Given the description of an element on the screen output the (x, y) to click on. 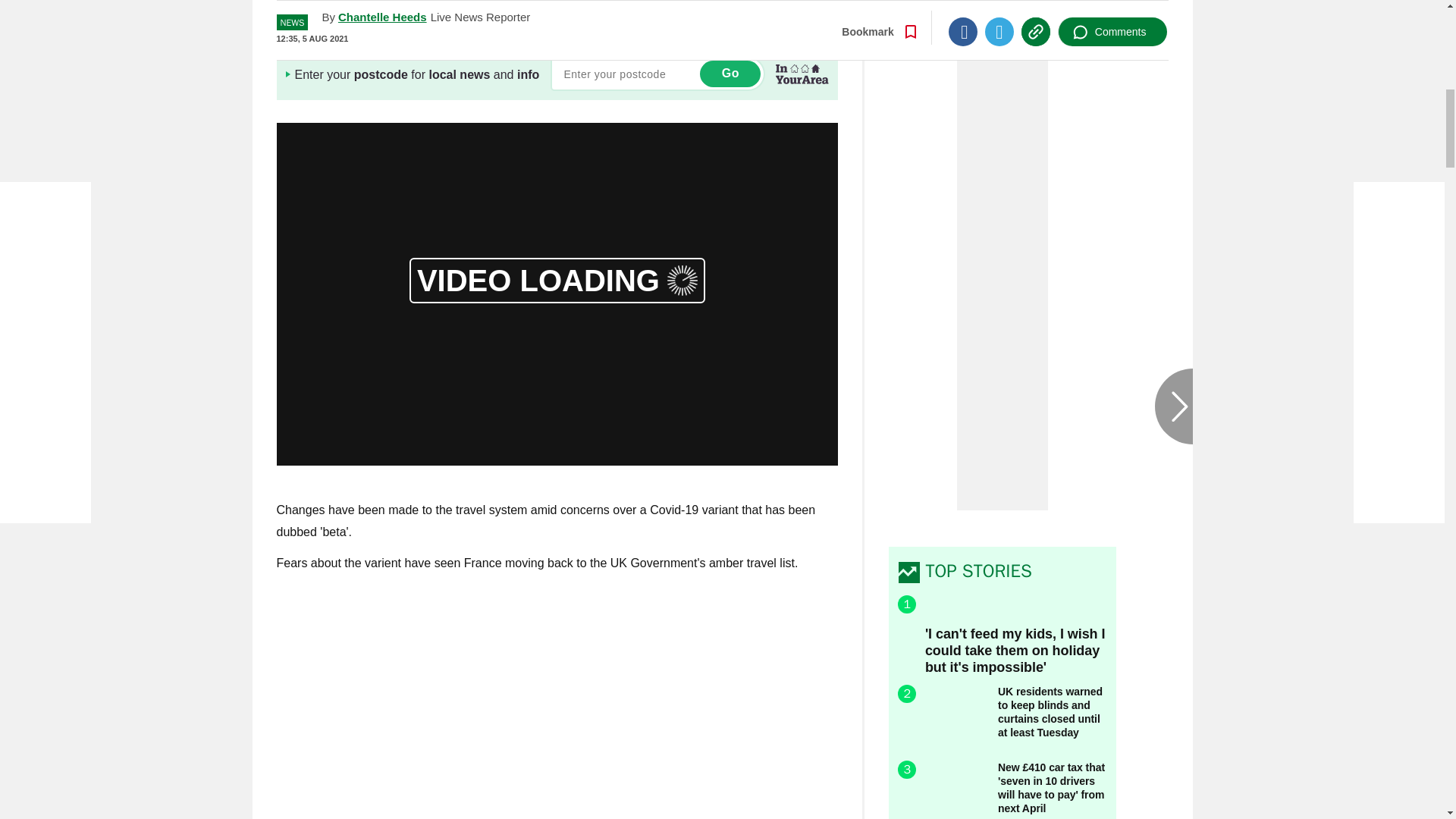
Go (730, 73)
Twitter (999, 7)
Facebook (962, 7)
Comments (1112, 7)
